Given the description of an element on the screen output the (x, y) to click on. 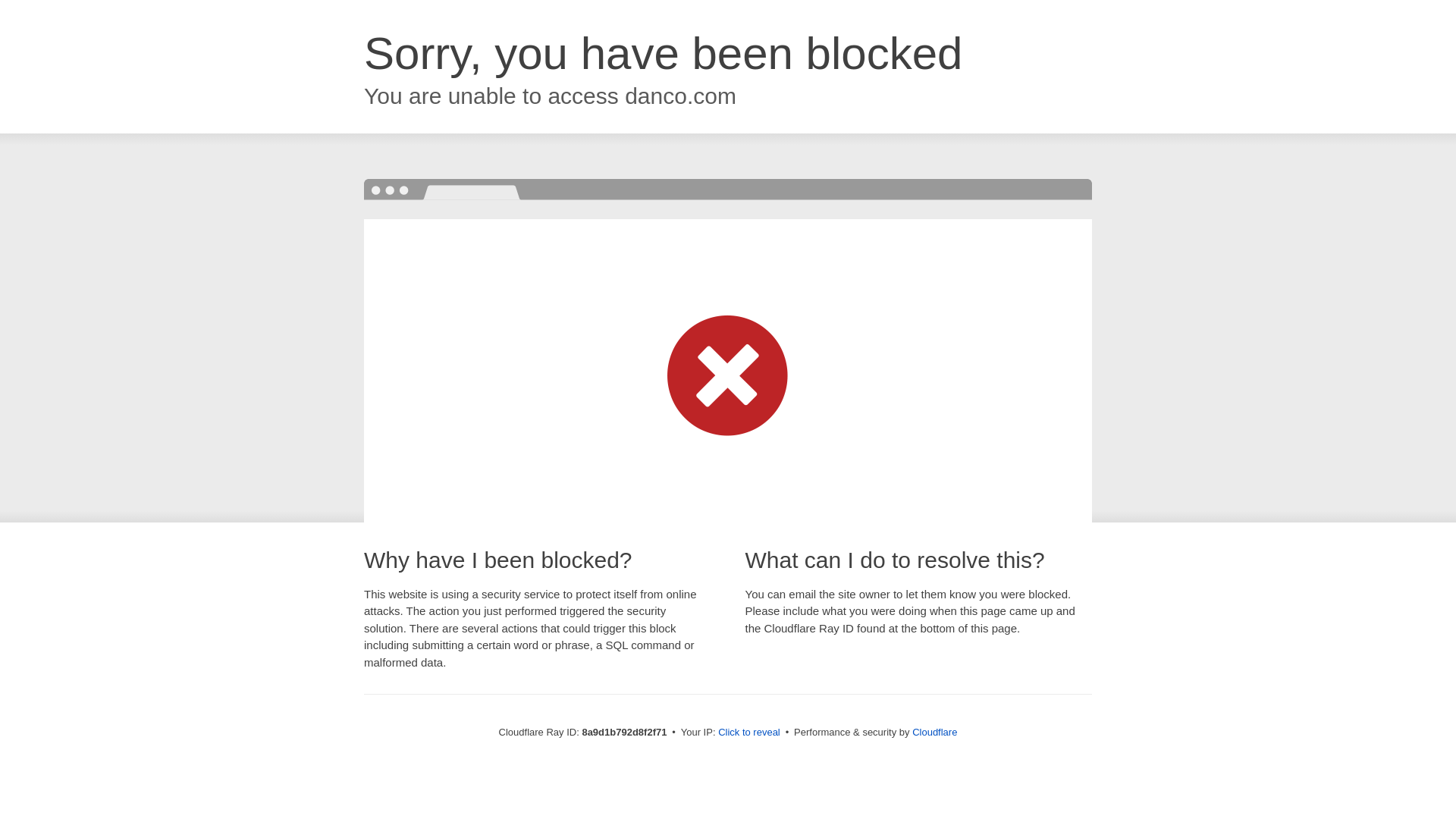
Click to reveal (748, 732)
Cloudflare (934, 731)
